Given the description of an element on the screen output the (x, y) to click on. 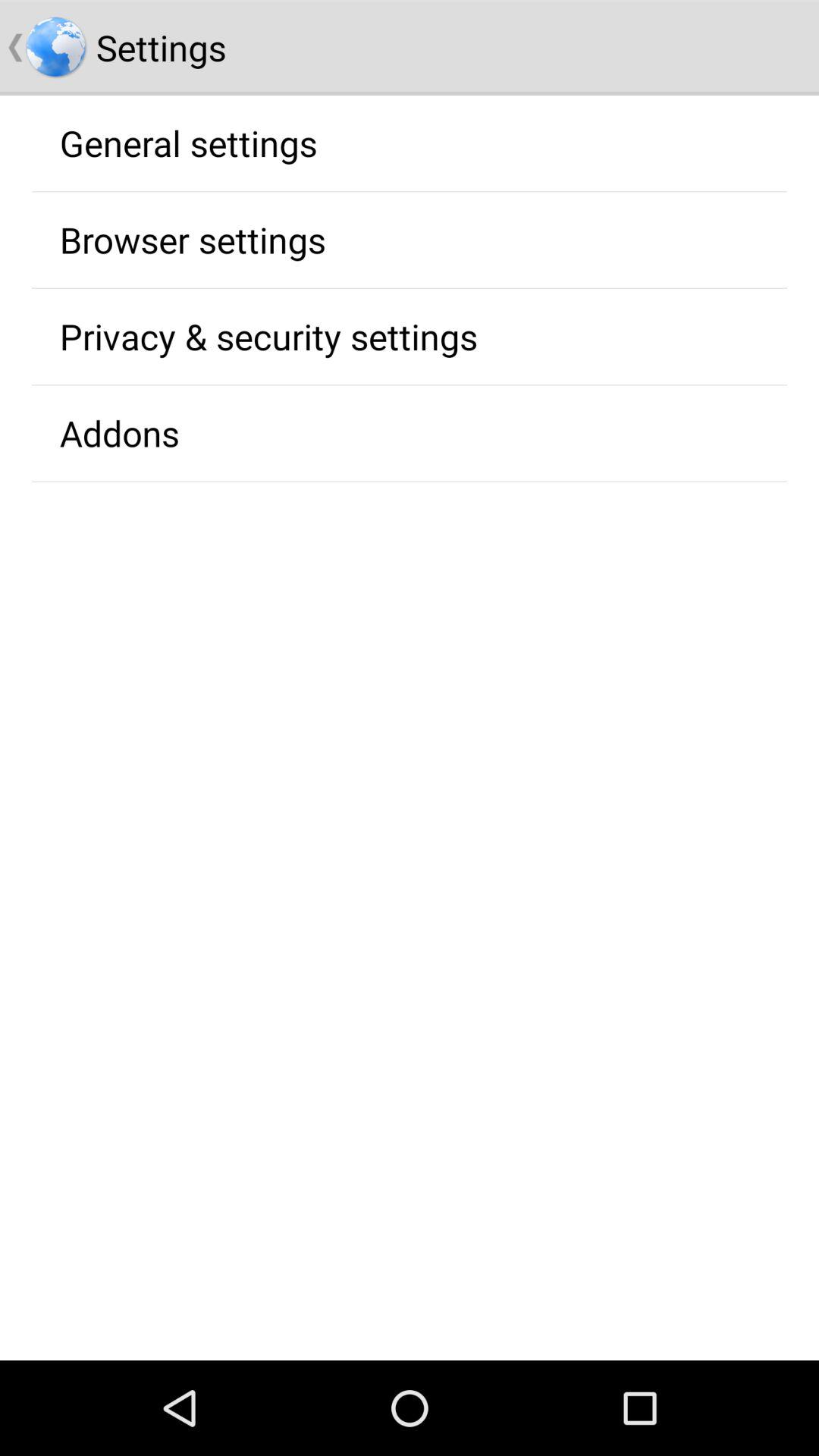
choose the addons item (119, 432)
